Given the description of an element on the screen output the (x, y) to click on. 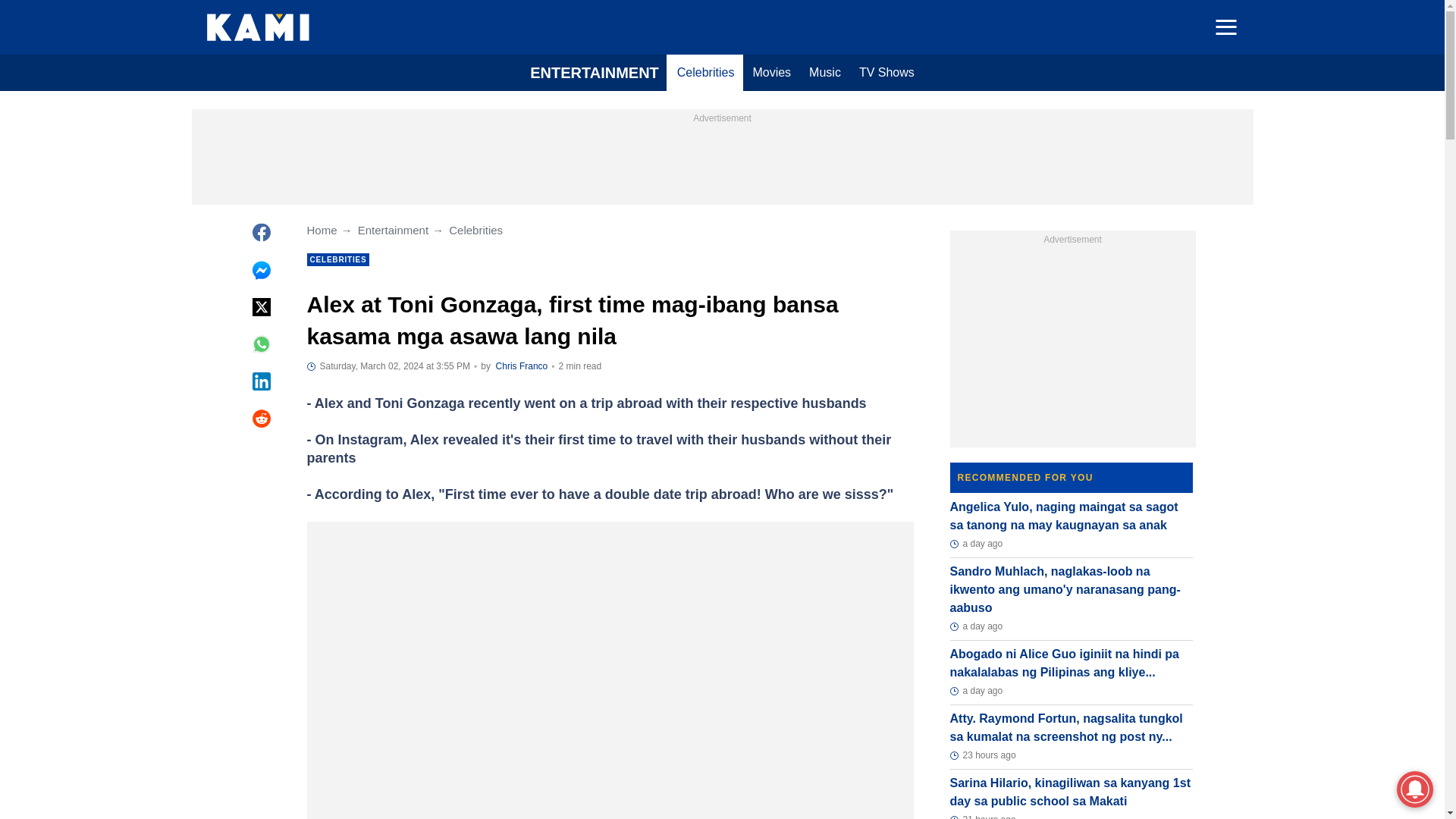
TV Shows (886, 72)
Movies (770, 72)
ENTERTAINMENT (594, 72)
Music (824, 72)
Celebrities (706, 72)
Author page (522, 366)
